Given the description of an element on the screen output the (x, y) to click on. 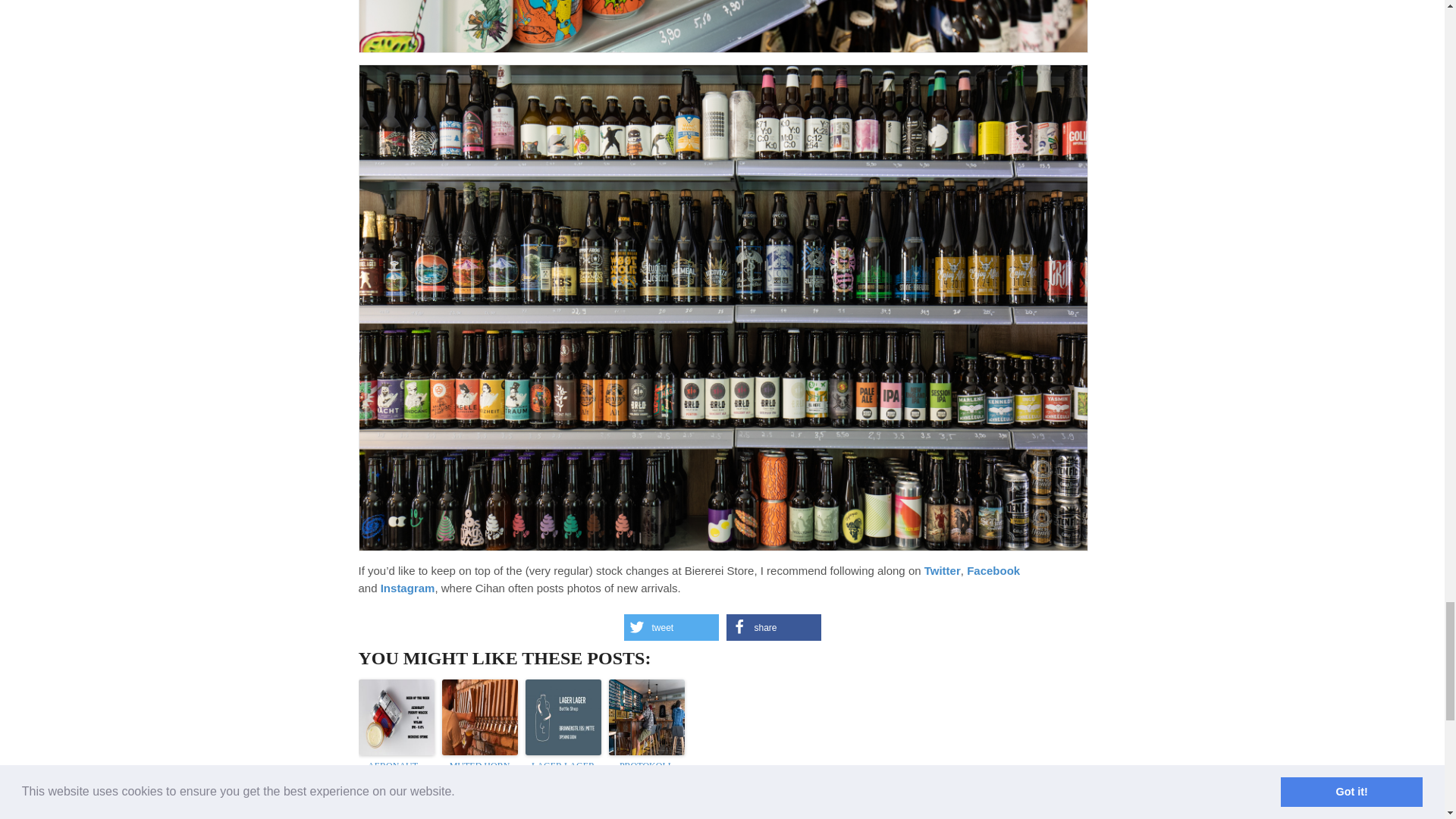
Share on Twitter (670, 627)
Twitter (942, 570)
MUTED HORN (478, 766)
Instagram (407, 587)
Share on Facebook (773, 627)
tweet  (670, 627)
Facebook (993, 570)
share  (773, 627)
